Given the description of an element on the screen output the (x, y) to click on. 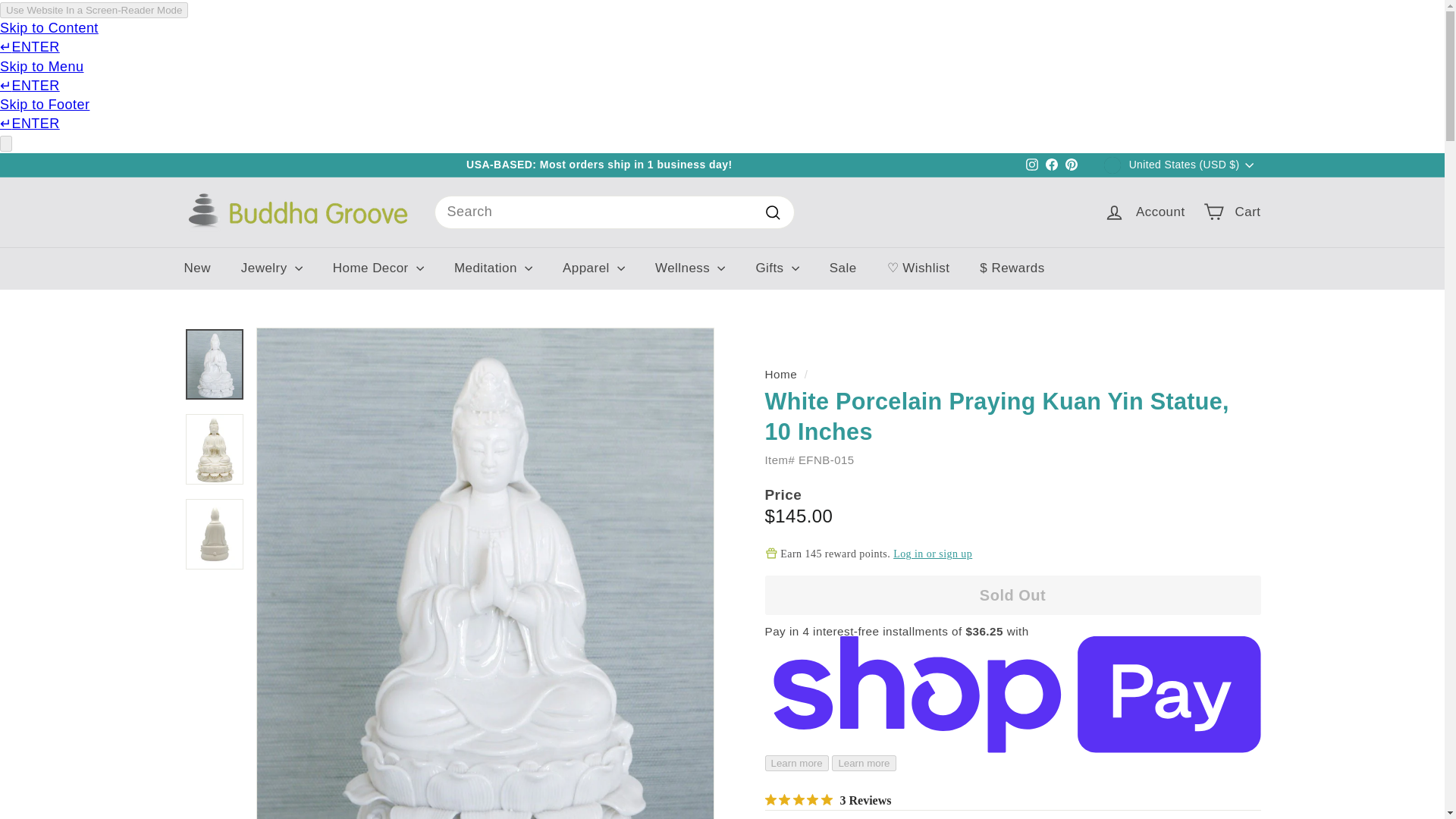
Back to the frontpage (780, 373)
3 Reviews (827, 800)
instagram (1032, 164)
